Given the description of an element on the screen output the (x, y) to click on. 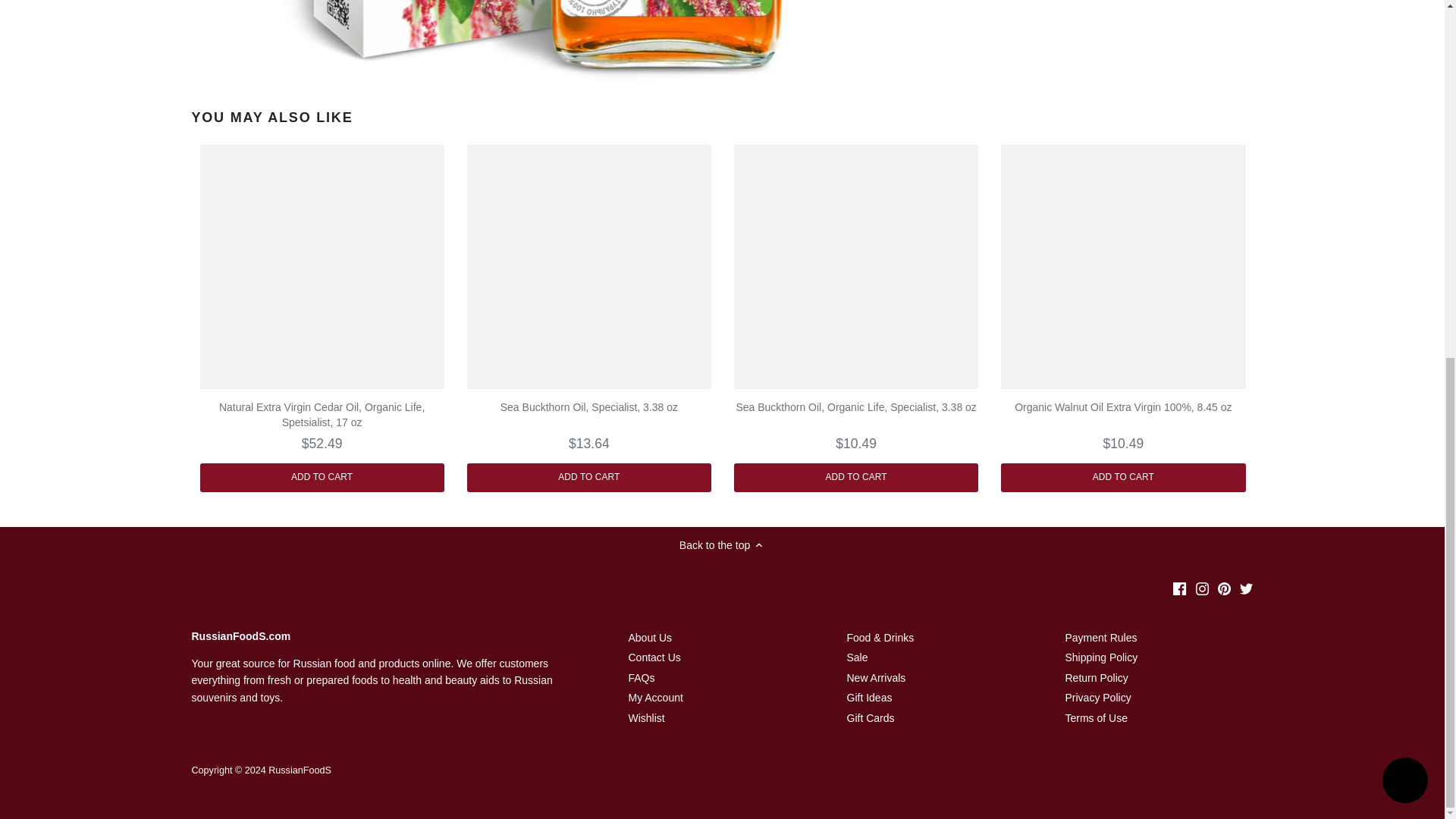
Pinterest (1223, 588)
Facebook (1179, 588)
Twitter (1246, 588)
Instagram (1201, 588)
